Given the description of an element on the screen output the (x, y) to click on. 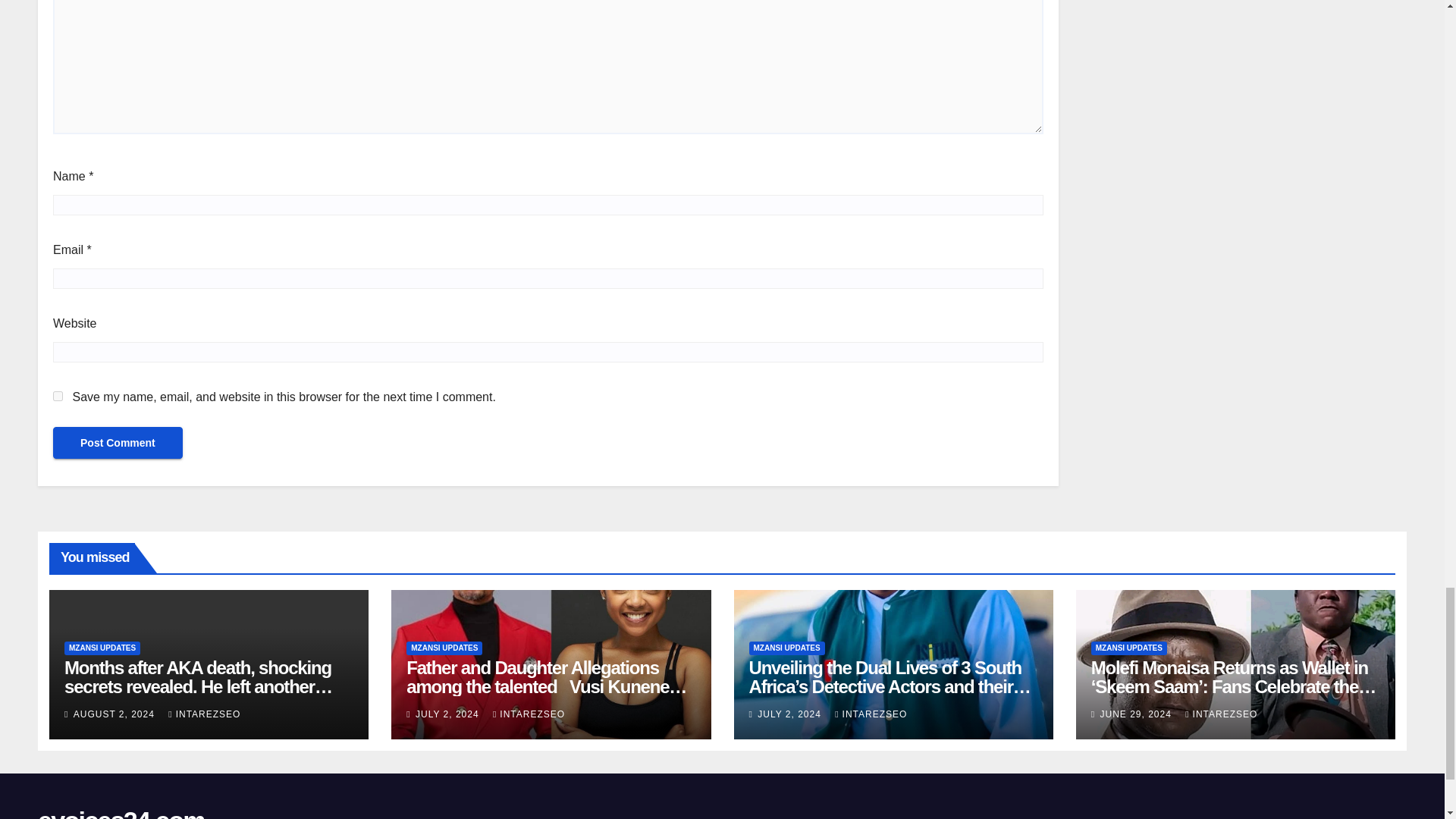
Post Comment (117, 442)
yes (57, 396)
